Given the description of an element on the screen output the (x, y) to click on. 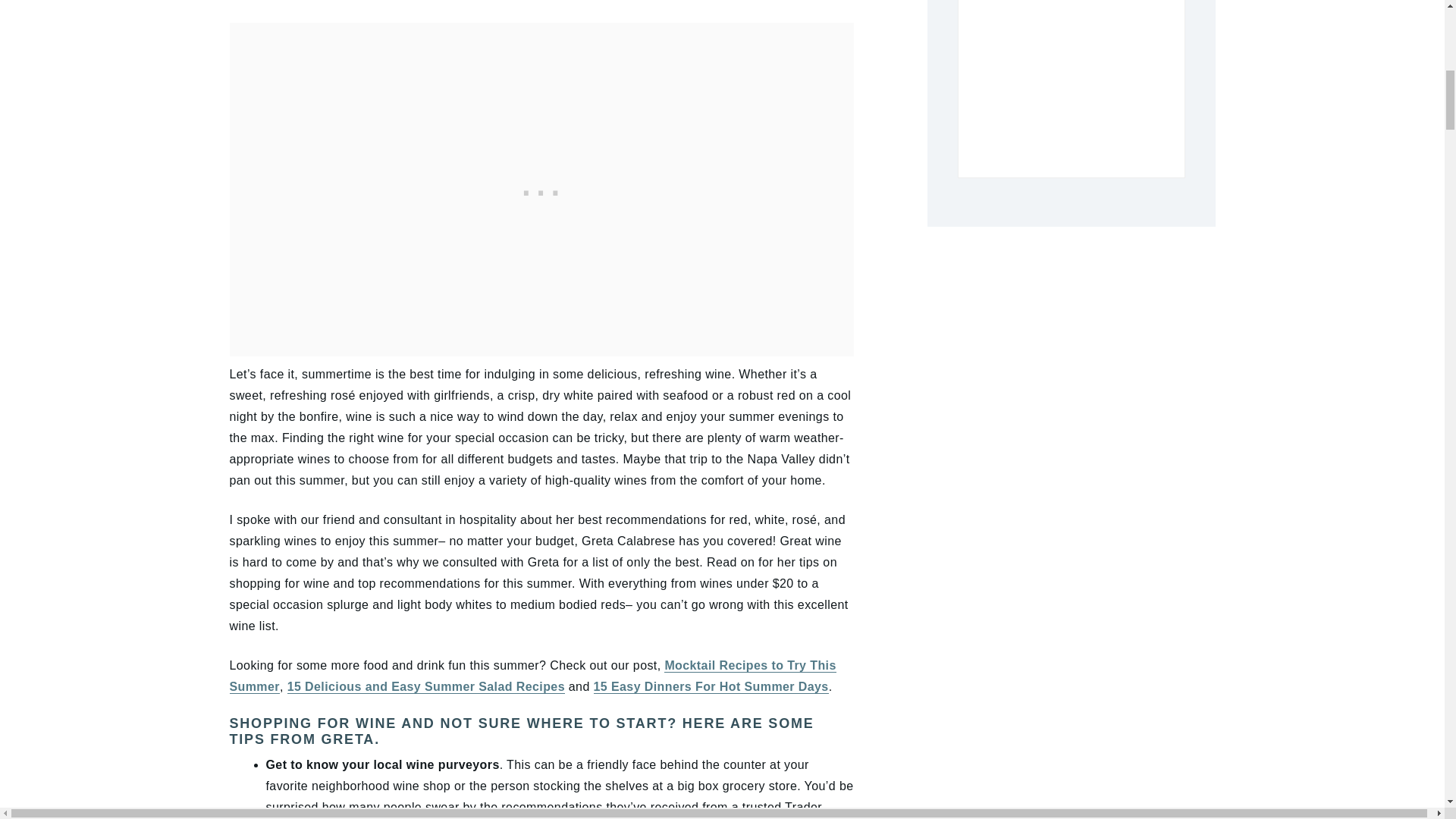
Mocktail Recipes to Try This Summer (531, 676)
15 Easy Dinners For Hot Summer Days (711, 686)
15 Delicious and Easy Summer Salad Recipes (425, 686)
